Given the description of an element on the screen output the (x, y) to click on. 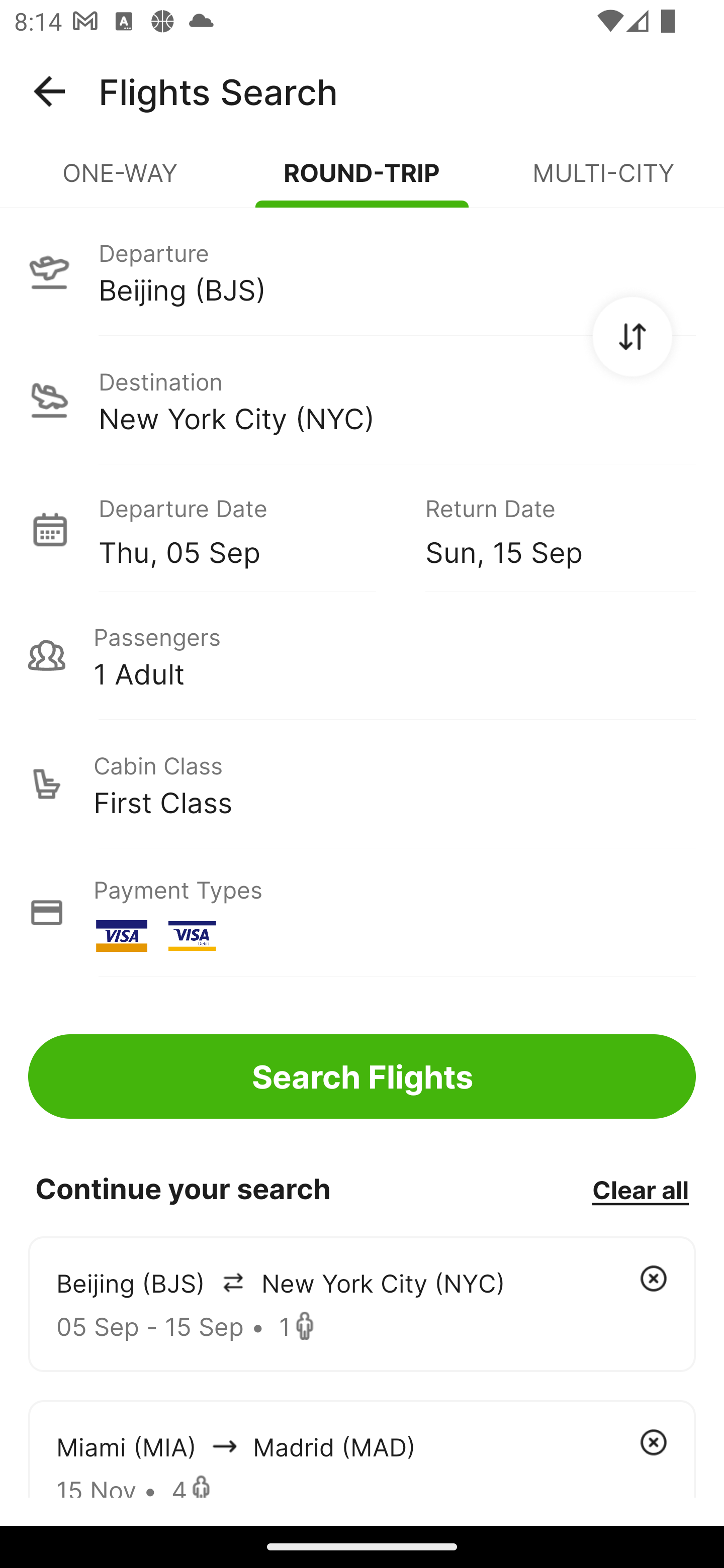
ONE-WAY (120, 180)
ROUND-TRIP (361, 180)
MULTI-CITY (603, 180)
Departure Beijing (BJS) (362, 270)
Destination New York City (NYC) (362, 400)
Departure Date Thu, 05 Sep (247, 528)
Return Date Sun, 15 Sep (546, 528)
Passengers 1 Adult (362, 655)
Cabin Class First Class (362, 783)
Payment Types (362, 912)
Search Flights (361, 1075)
Clear all (640, 1189)
Miami (MIA)  arrowIcon  Madrid (MAD) 15 Nov •  4  (361, 1448)
